Given the description of an element on the screen output the (x, y) to click on. 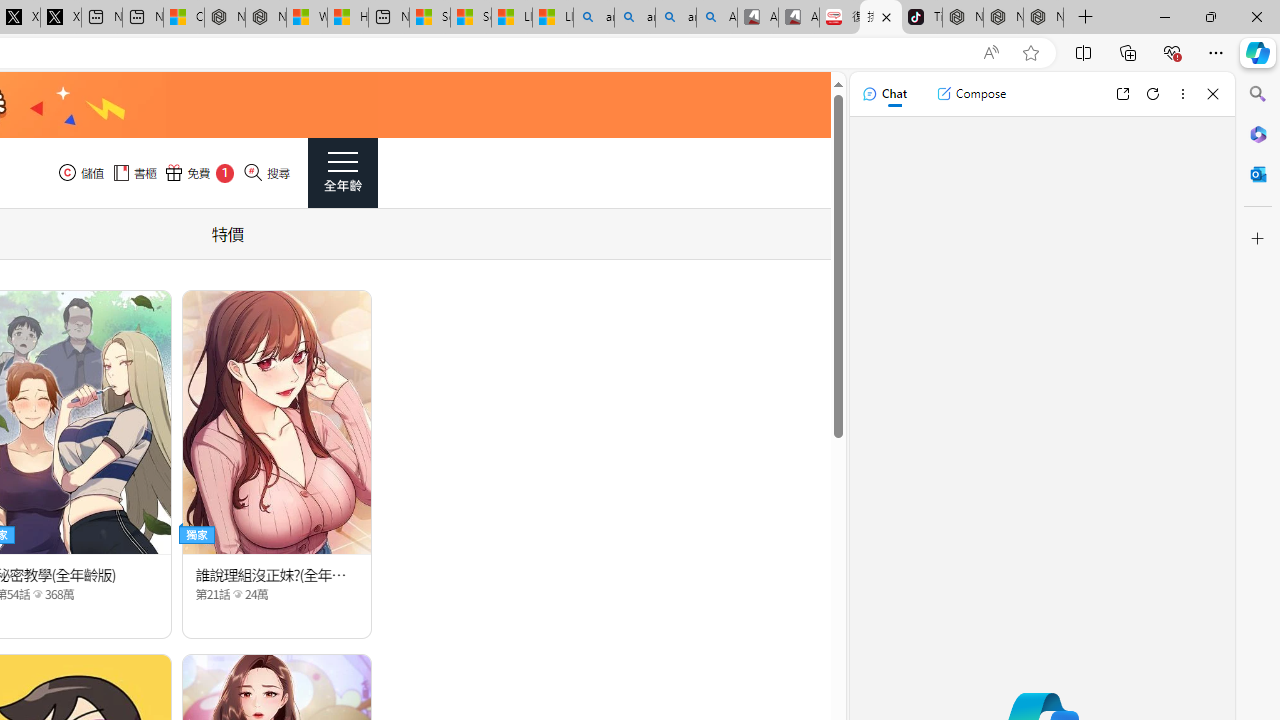
Class: side_menu_btn actionRightMenuBtn (342, 173)
